Given the description of an element on the screen output the (x, y) to click on. 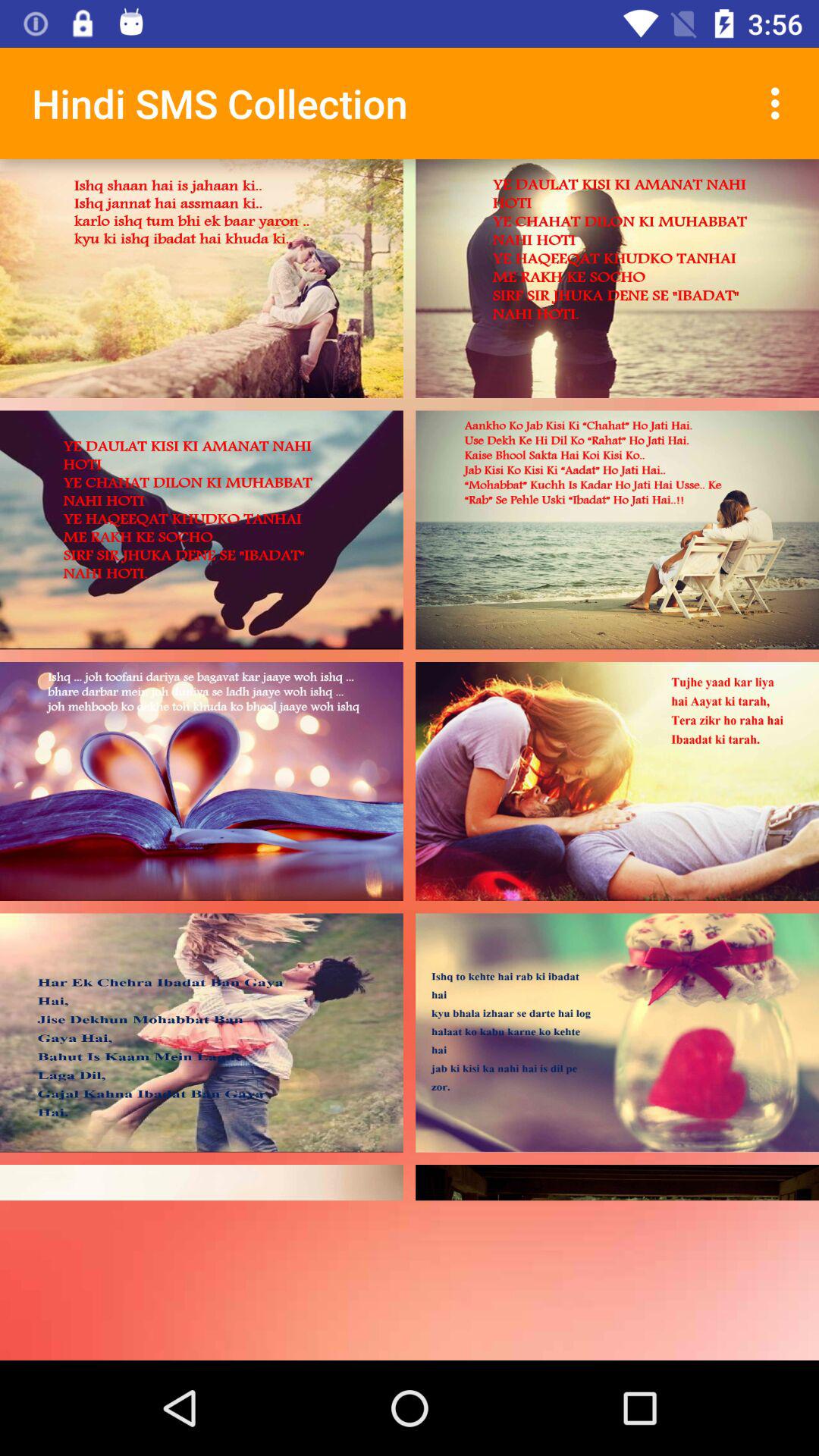
click the icon to the right of the hindi sms collection app (779, 103)
